Given the description of an element on the screen output the (x, y) to click on. 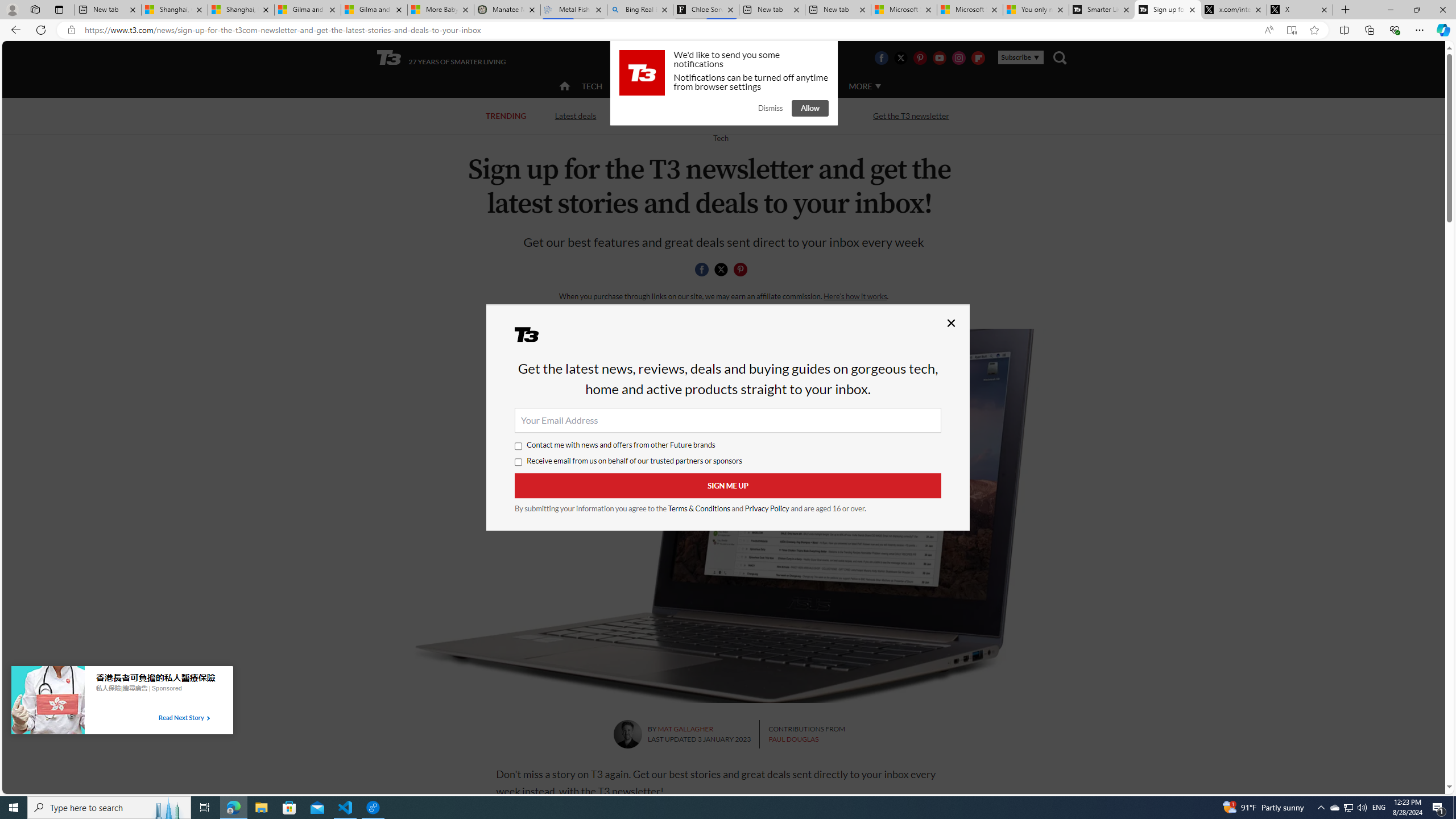
t3.com Logo (641, 72)
Visit us on Instagram (958, 57)
Class: svg-arrow-down (877, 86)
T3 newsletter (723, 515)
Class: icon-svg (739, 269)
Latest deals (574, 115)
Mat Gallagher (627, 734)
Terms & Conditions (699, 508)
ACTIVE (638, 85)
flag of UK (752, 57)
Image for Taboola Advertising Unit (47, 702)
Allow (810, 107)
